Given the description of an element on the screen output the (x, y) to click on. 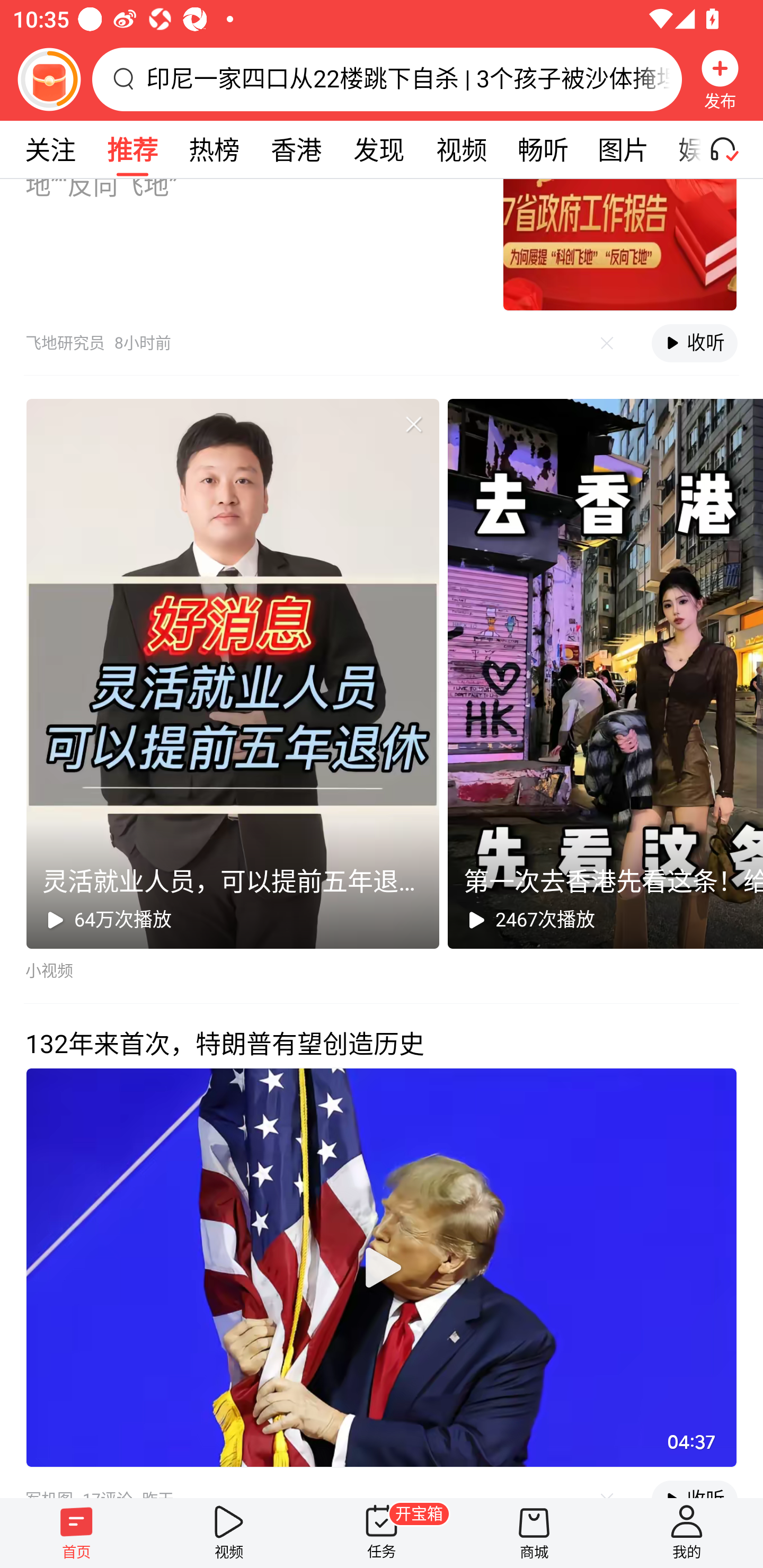
阅读赚金币 (48, 79)
发布 发布，按钮 (720, 78)
关注 (50, 149)
推荐 (132, 149)
热榜 (213, 149)
香港 (295, 149)
发现 (378, 149)
视频 (461, 149)
畅听 (542, 149)
图片 (623, 149)
听一听开关 (732, 149)
收听 (694, 343)
不感兴趣 (607, 343)
不感兴趣 (413, 423)
播放视频 视频播放器，双击屏幕打开播放控制 (381, 1267)
播放视频 (381, 1267)
首页 (76, 1532)
视频 (228, 1532)
任务 开宝箱 (381, 1532)
商城 (533, 1532)
我的 (686, 1532)
